Given the description of an element on the screen output the (x, y) to click on. 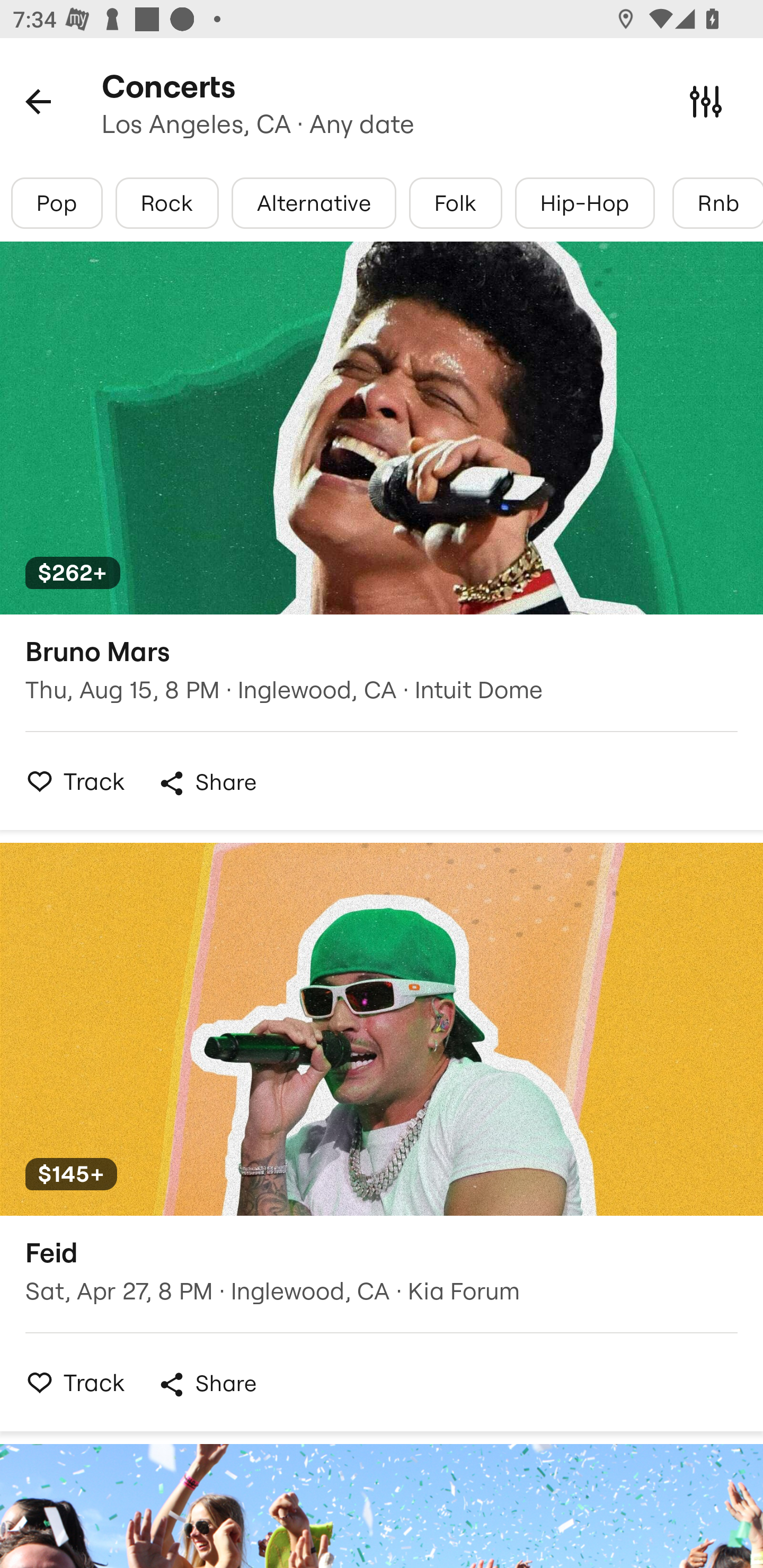
Back (38, 100)
Filters (705, 100)
Pop (57, 202)
Rock (166, 202)
Alternative (313, 202)
Folk (455, 202)
Hip-Hop (584, 202)
Rnb (717, 202)
Track (70, 780)
Share (207, 783)
Track (70, 1381)
Share (207, 1384)
